Given the description of an element on the screen output the (x, y) to click on. 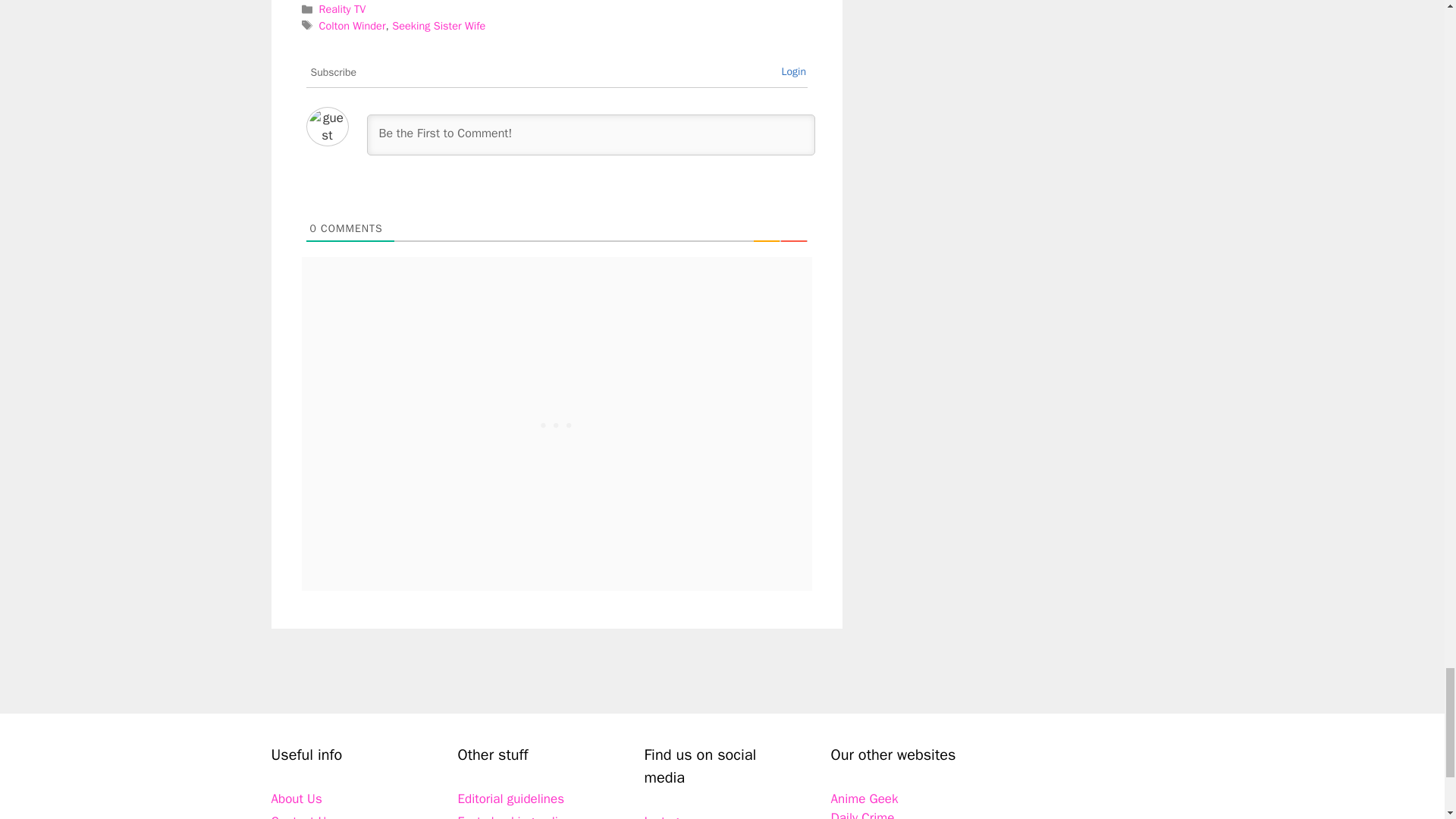
Colton Winder (351, 25)
Fact-checking policy (514, 816)
About Us (295, 798)
Editorial guidelines (511, 798)
Seeking Sister Wife (437, 25)
Contact Us (301, 816)
Reality TV (342, 8)
Instagram (672, 816)
Login (793, 71)
